Given the description of an element on the screen output the (x, y) to click on. 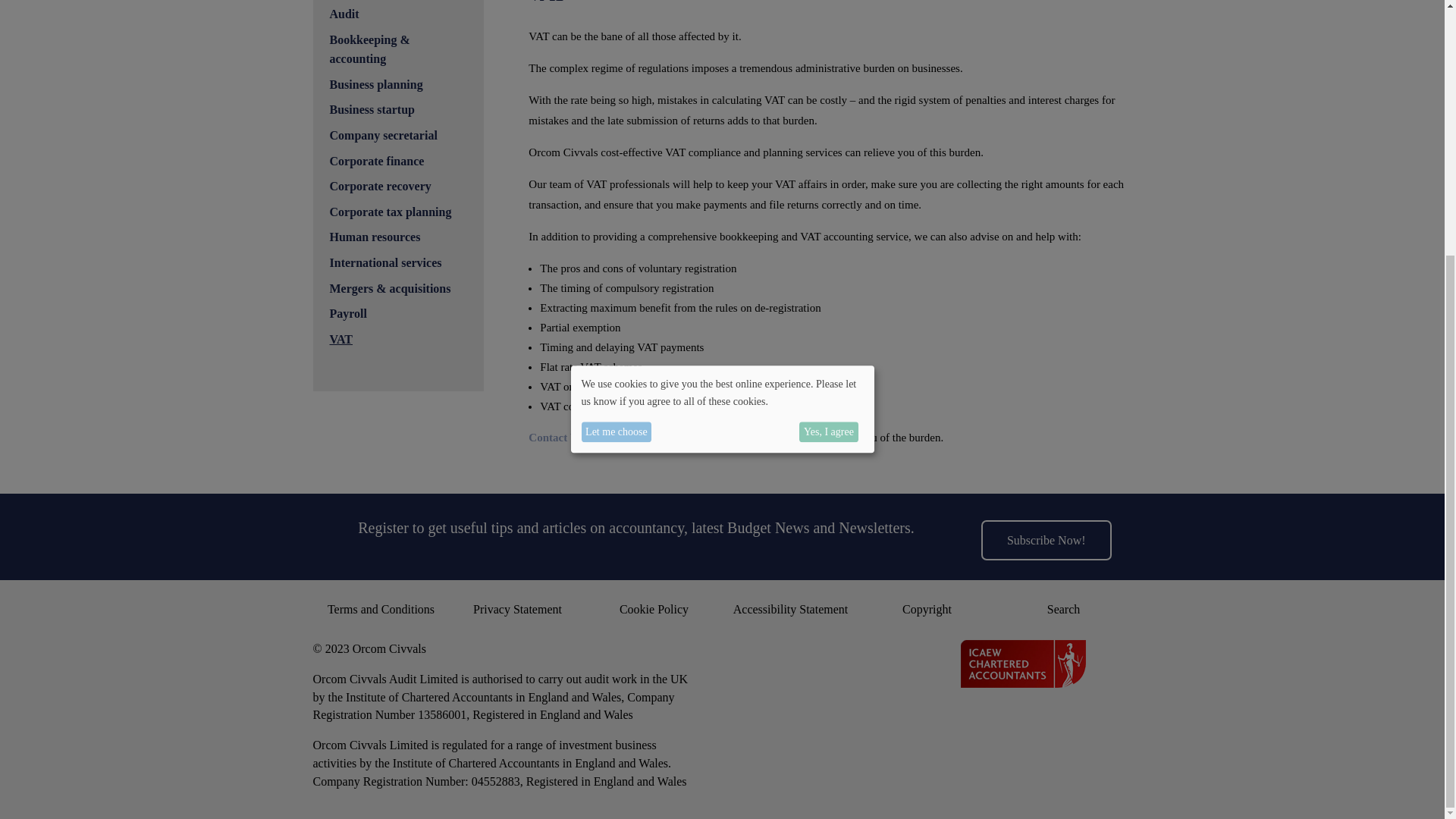
sage (1022, 736)
Audit (343, 13)
Corporate tax planning (390, 211)
VAT (340, 338)
International services (385, 262)
Business startup (371, 109)
Company secretarial (382, 134)
Human resources (374, 236)
Corporate recovery (379, 185)
Corporate finance (376, 160)
Business planning (375, 83)
Payroll (347, 313)
ica (1023, 663)
